Given the description of an element on the screen output the (x, y) to click on. 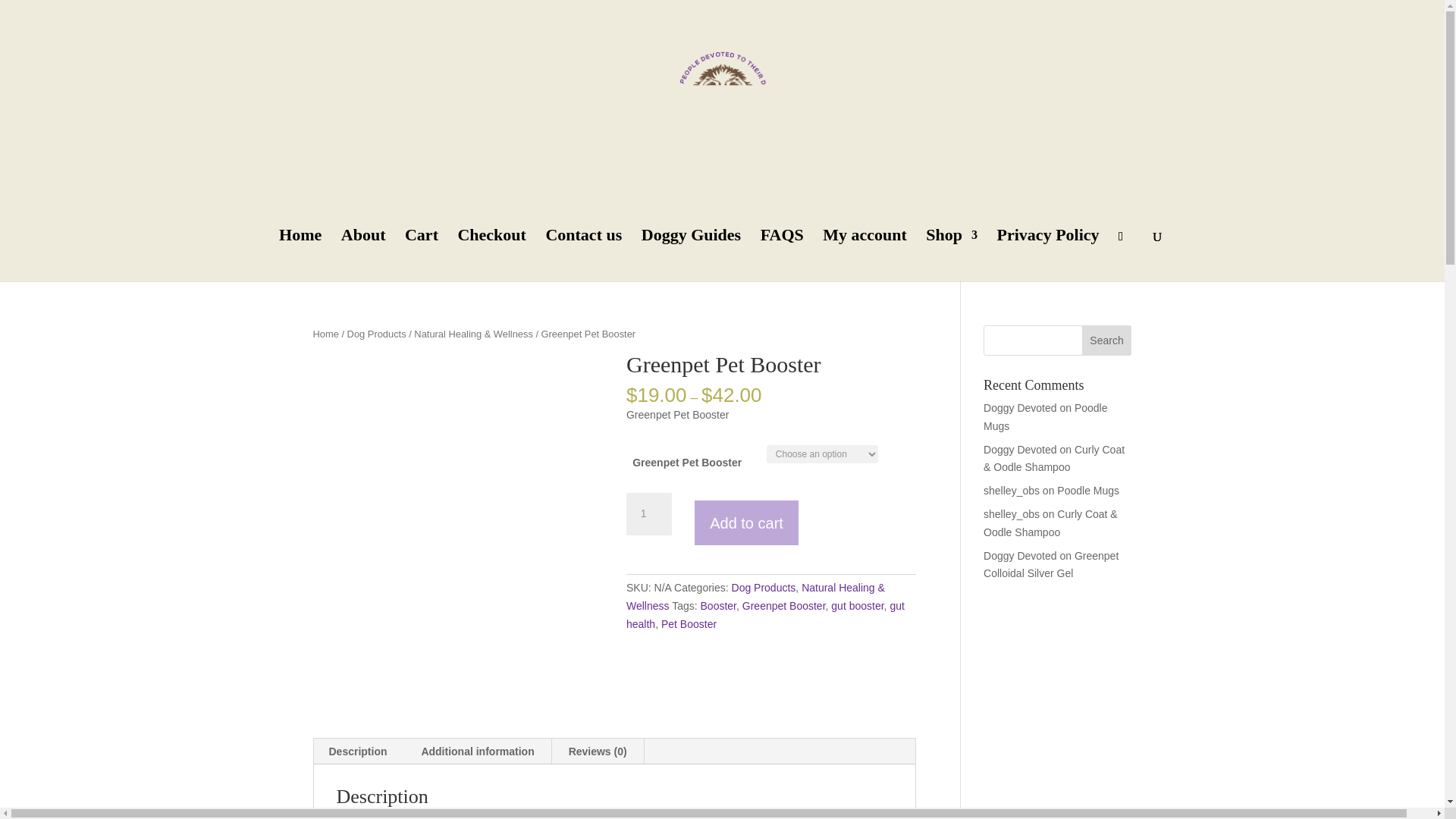
My account (864, 255)
Checkout (491, 255)
Shop (951, 255)
Doggy Guides (691, 255)
Contact us (582, 255)
1 (648, 514)
Search (1106, 340)
